Given the description of an element on the screen output the (x, y) to click on. 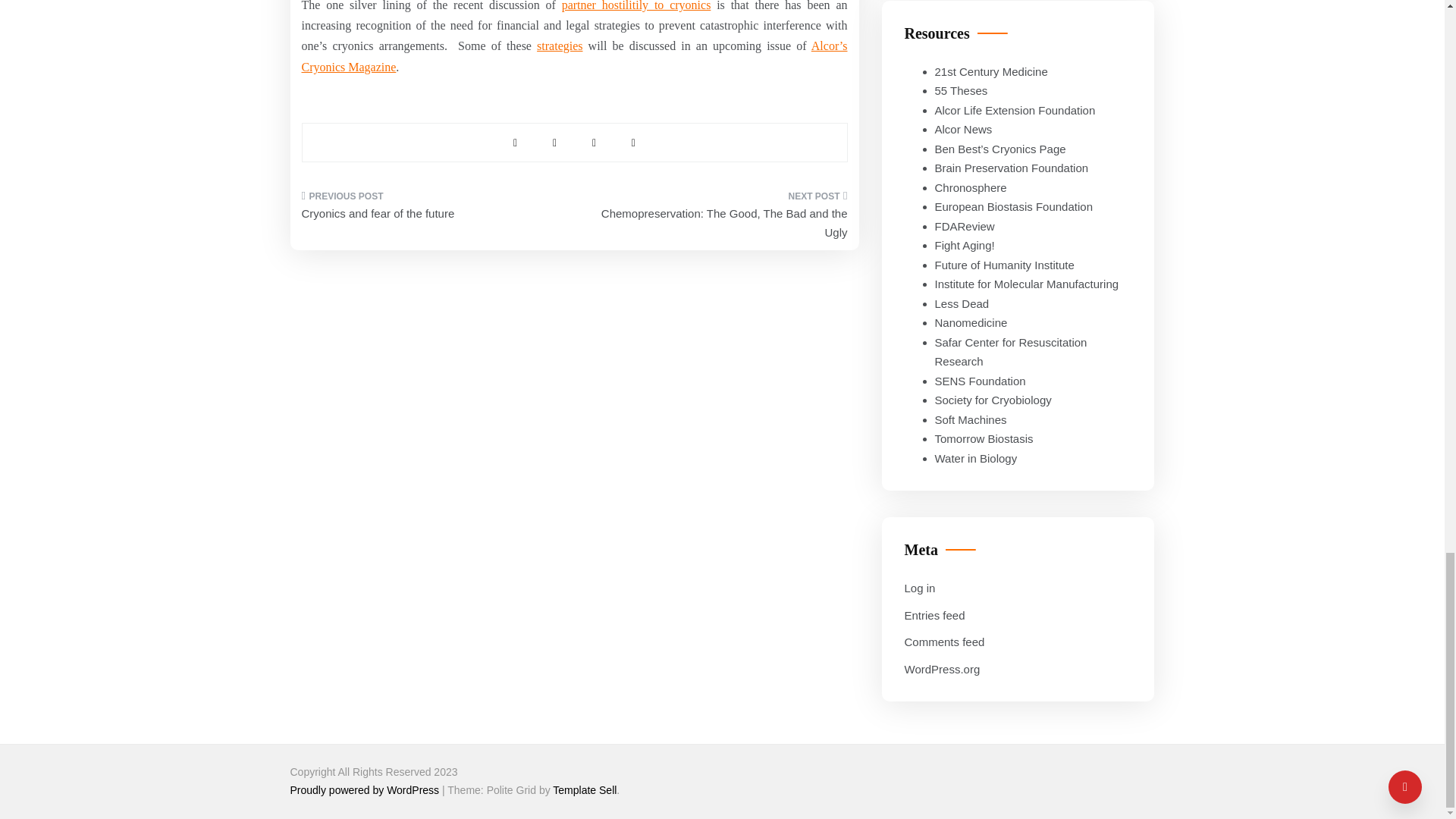
partner hostilitily to cryonics (636, 5)
Cryonics and fear of the future (432, 209)
strategies (559, 45)
